Given the description of an element on the screen output the (x, y) to click on. 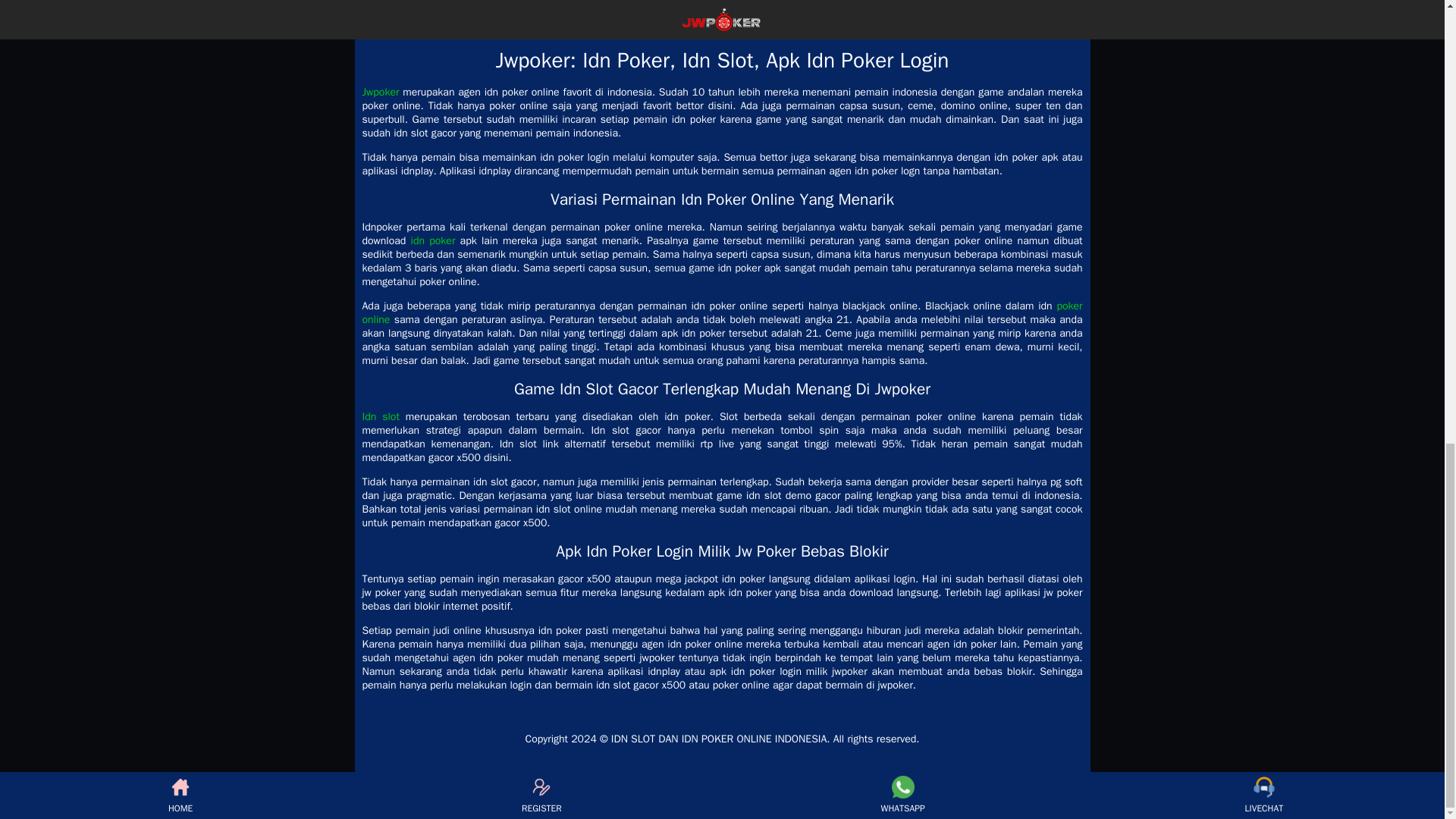
Idn slot (380, 416)
idn poker (432, 240)
Jwpoker (380, 91)
poker online (722, 312)
